Given the description of an element on the screen output the (x, y) to click on. 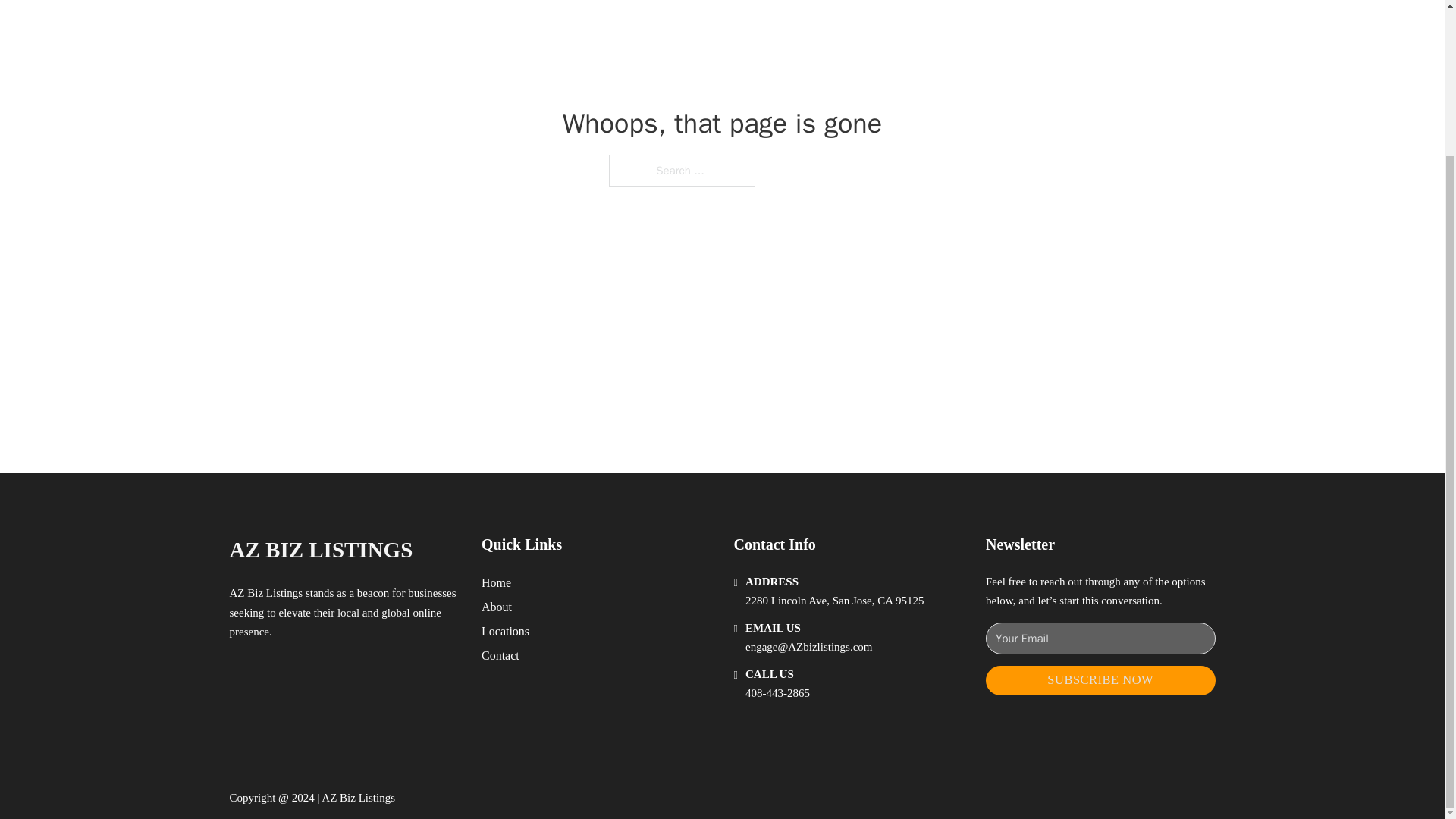
Home (496, 582)
About (496, 607)
Contact (500, 655)
SUBSCRIBE NOW (1100, 680)
AZ BIZ LISTINGS (320, 549)
Locations (505, 630)
408-443-2865 (777, 693)
